Given the description of an element on the screen output the (x, y) to click on. 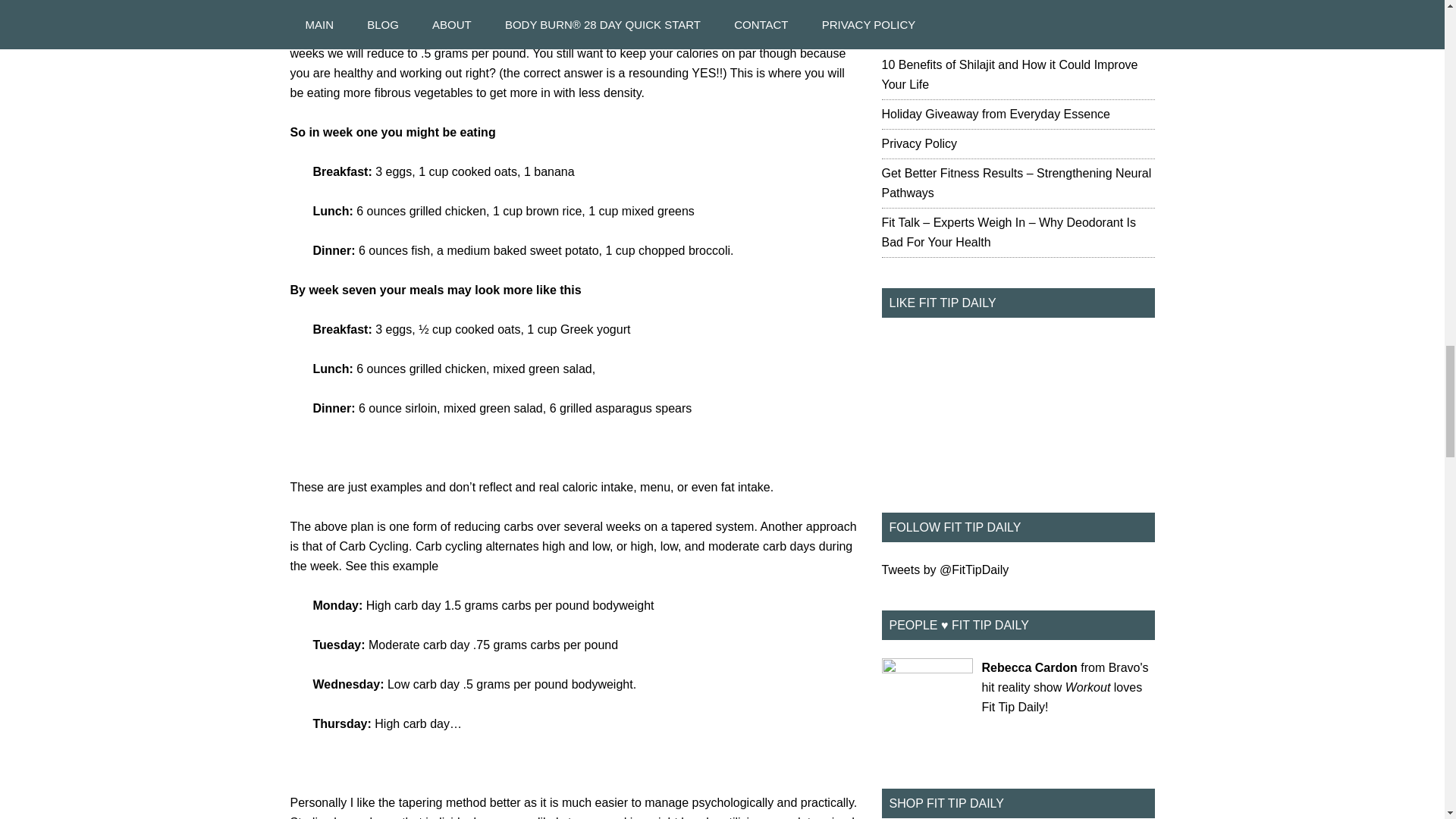
complex sources (754, 13)
